Given the description of an element on the screen output the (x, y) to click on. 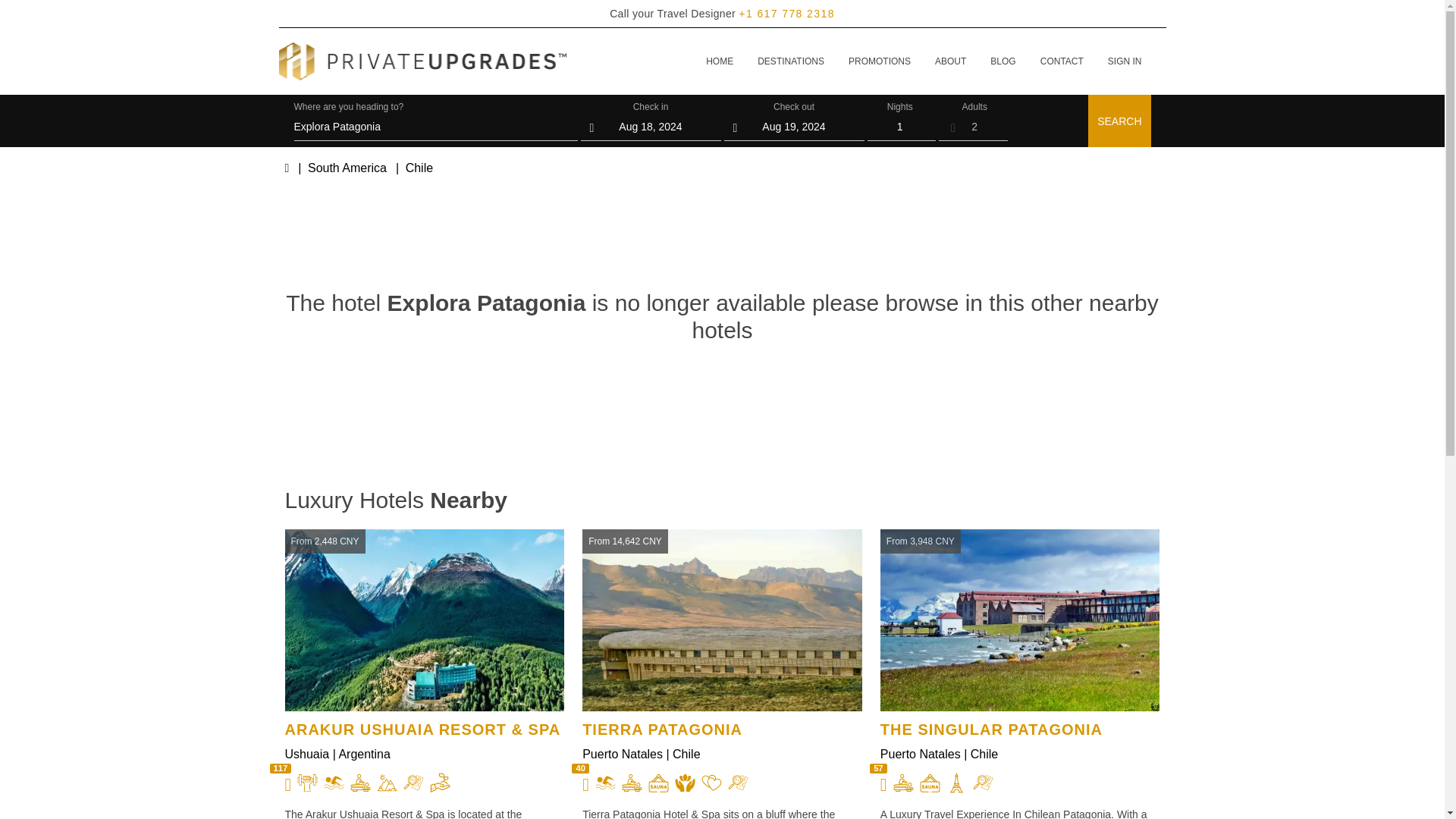
Argentina (363, 753)
Chile (984, 753)
Puerto Natales (622, 753)
TIERRA PATAGONIA (721, 729)
Sauna (657, 783)
Explora Patagonia (436, 126)
Adventure (982, 783)
PROMOTIONS (880, 61)
Wellness (685, 783)
South America (347, 167)
